Given the description of an element on the screen output the (x, y) to click on. 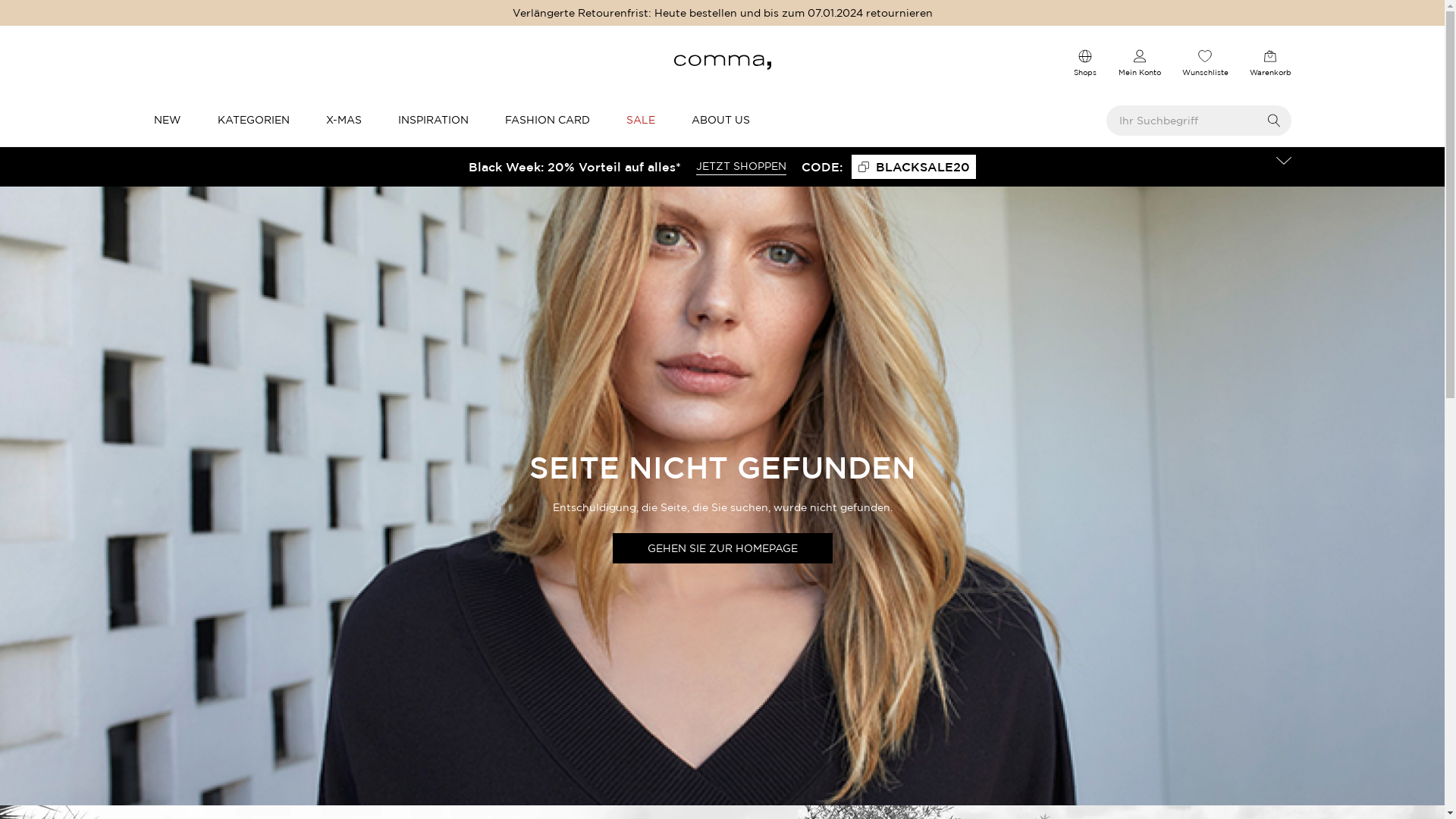
KATEGORIEN Element type: text (252, 120)
NEW Element type: text (166, 120)
GEHEN SIE ZUR HOMEPAGE Element type: text (722, 547)
FASHION CARD Element type: text (547, 120)
Home page Element type: hover (721, 60)
Shops Element type: text (1084, 60)
X-MAS Element type: text (343, 120)
Warenkorb Element type: text (1270, 60)
ABOUT US Element type: text (720, 120)
Ihr Suchbegriff Element type: text (1197, 120)
INSPIRATION Element type: text (432, 120)
Mein Konto Element type: text (1138, 60)
SALE Element type: text (640, 120)
JETZT SHOPPEN Element type: text (741, 166)
Wunschliste Element type: text (1204, 60)
